Given the description of an element on the screen output the (x, y) to click on. 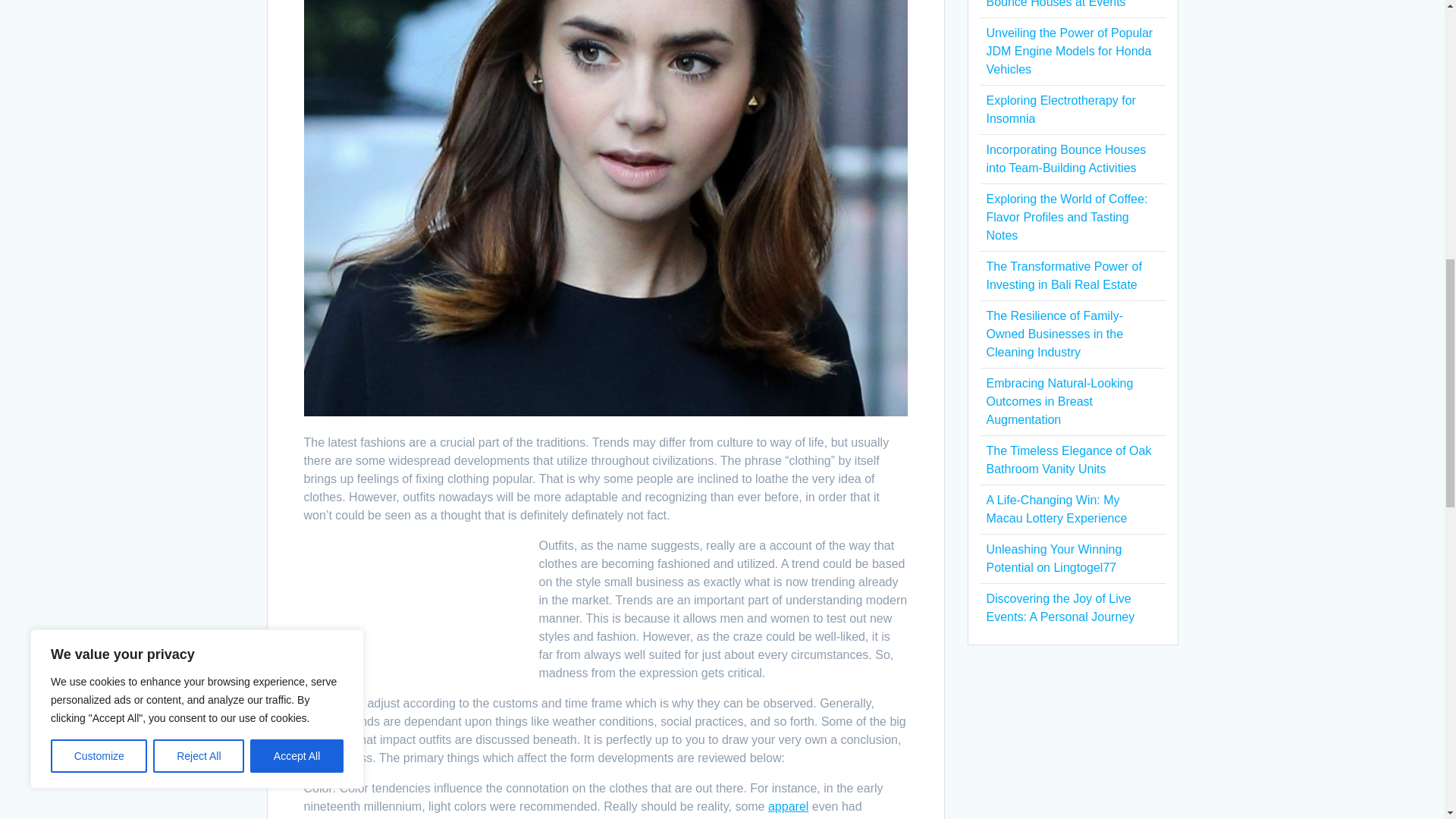
Exploring Electrotherapy for Insomnia (1060, 109)
Safe Bouncing: Tips for Using Bounce Houses at Events (1065, 4)
apparel (788, 806)
Incorporating Bounce Houses into Team-Building Activities (1065, 158)
